Given the description of an element on the screen output the (x, y) to click on. 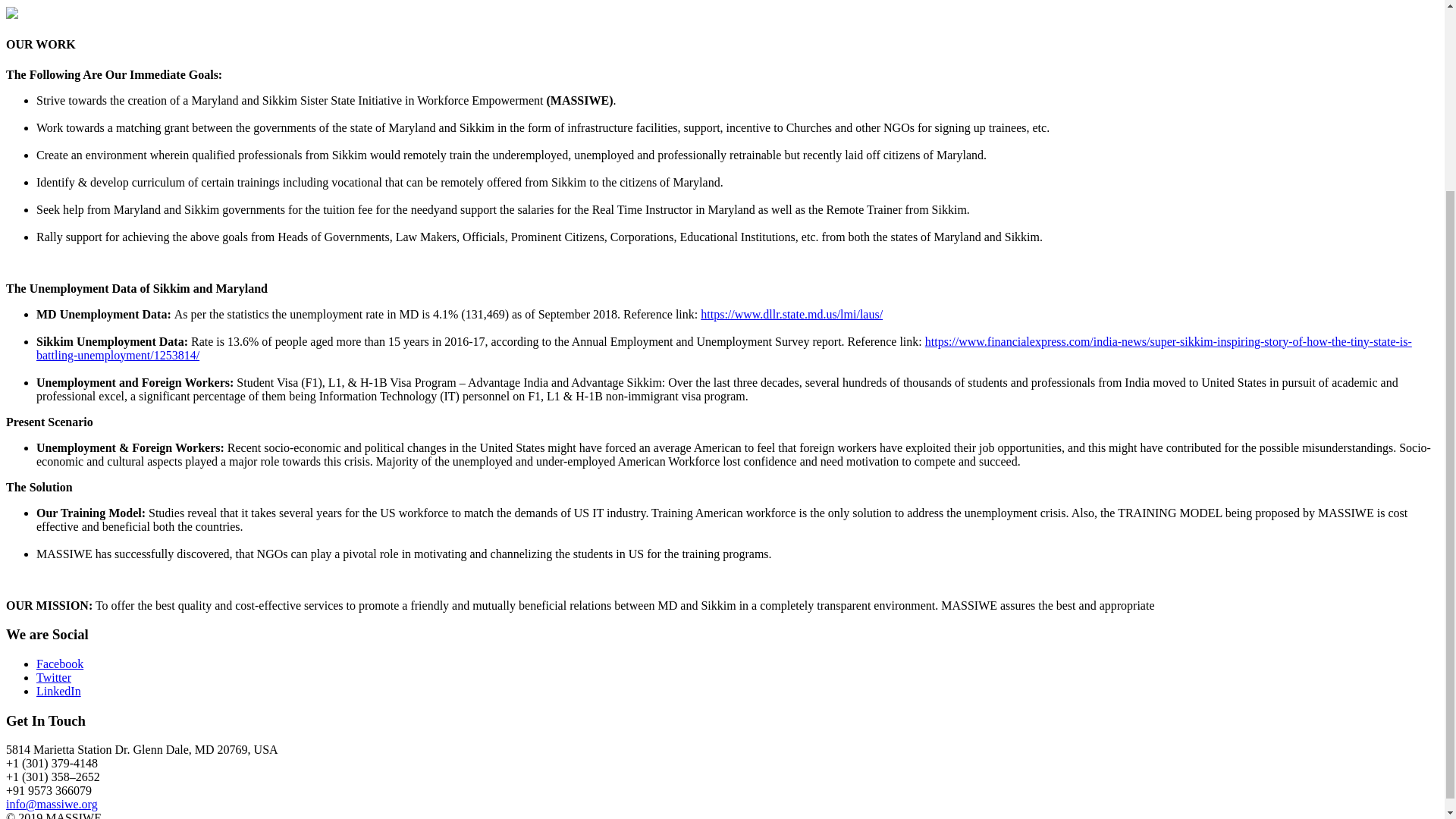
Twitter (53, 676)
Facebook (59, 663)
LinkedIn (58, 690)
